Given the description of an element on the screen output the (x, y) to click on. 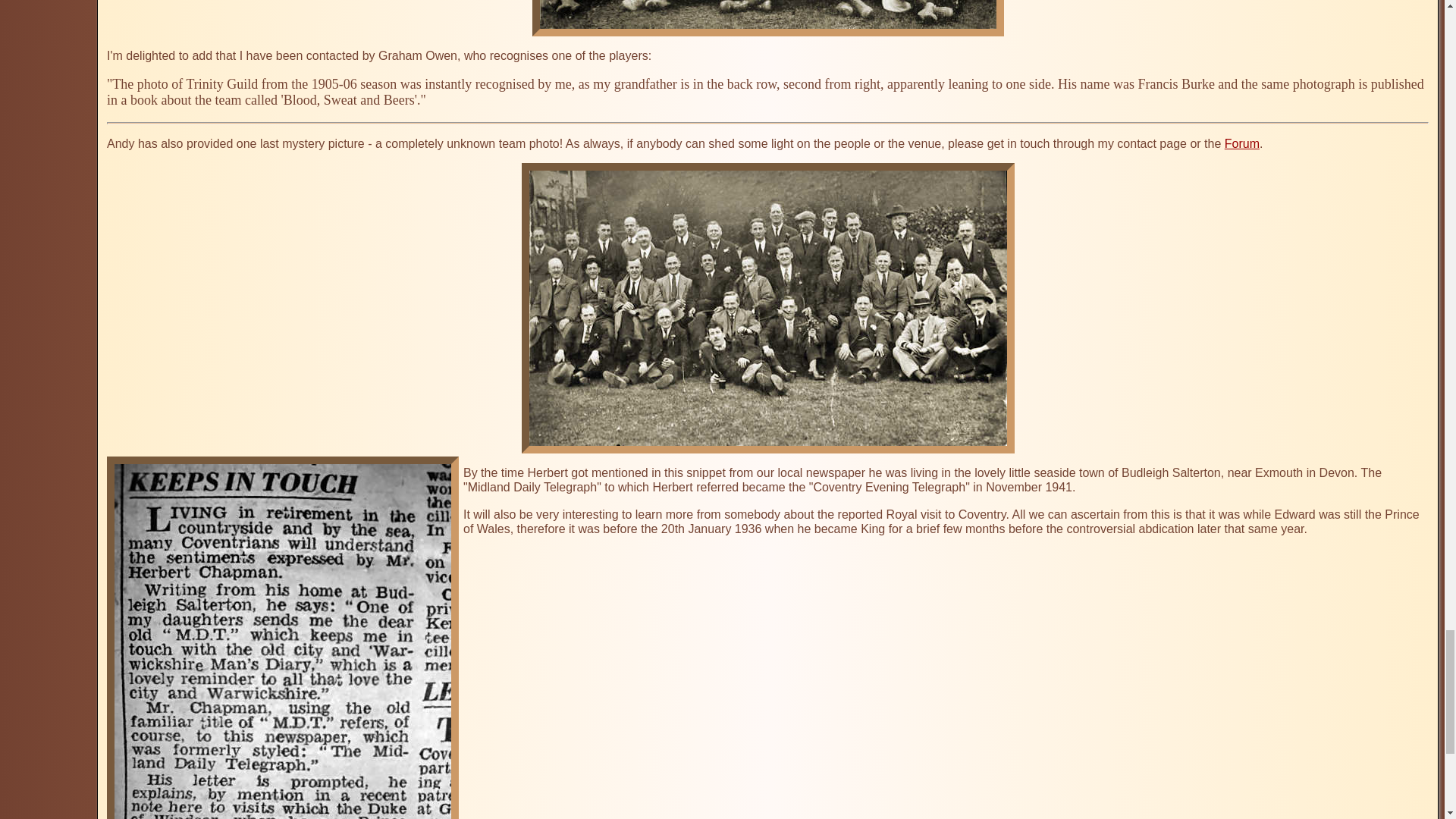
Rugby Team Photo (768, 18)
Football Team Photo (282, 637)
